Given the description of an element on the screen output the (x, y) to click on. 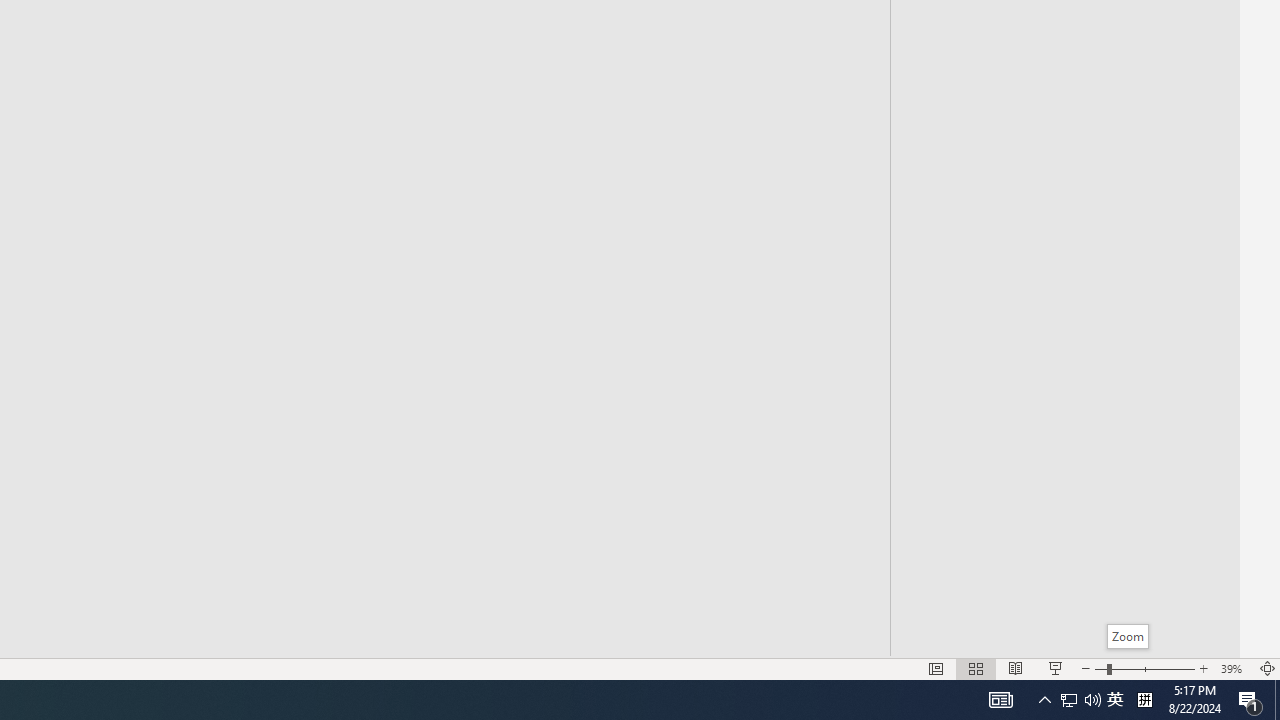
Zoom 39% (1234, 668)
